Given the description of an element on the screen output the (x, y) to click on. 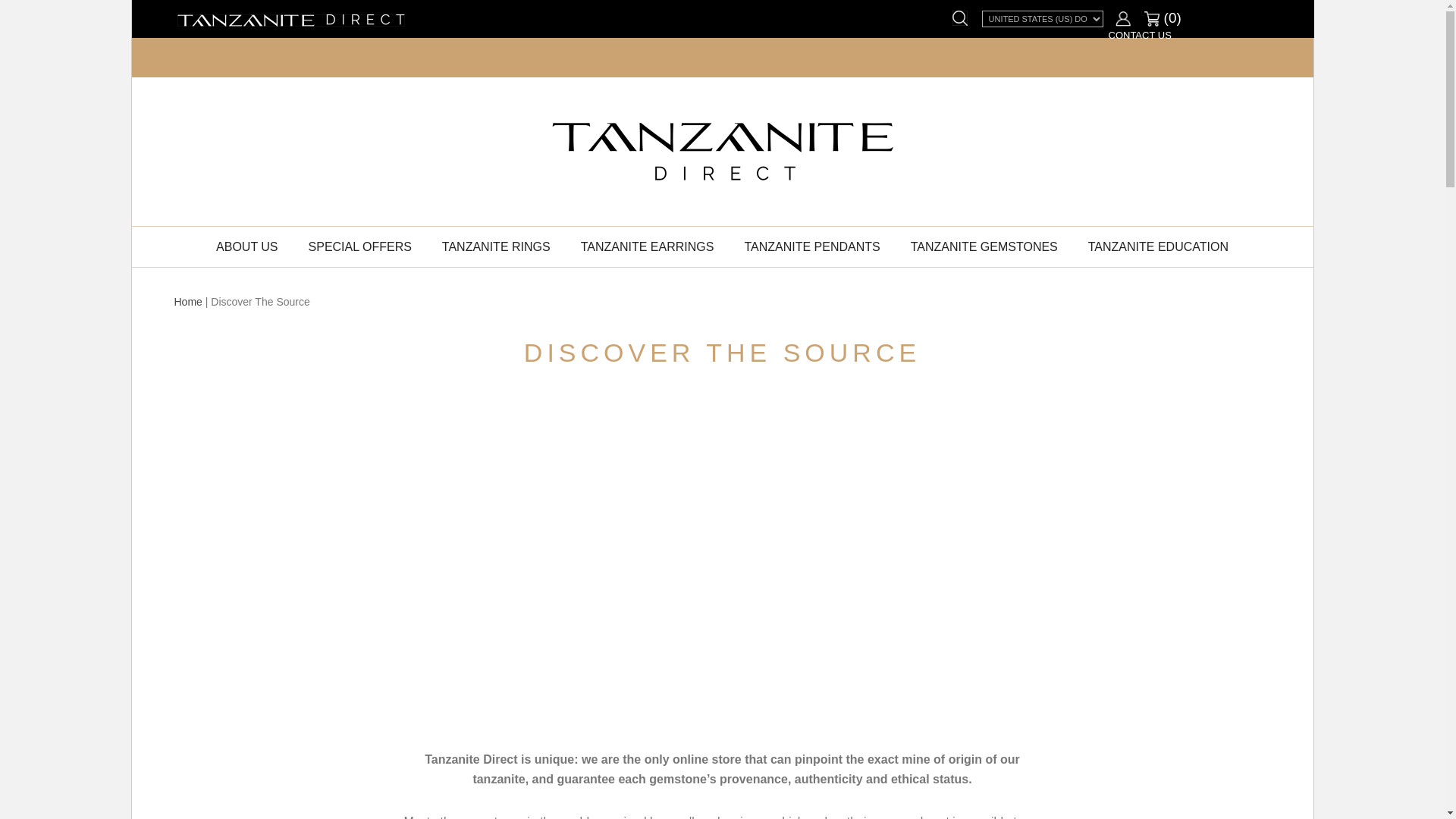
TANZANITE EDUCATION (1158, 246)
TANZANITE GEMSTONES (984, 246)
SPECIAL OFFERS (360, 246)
View your shopping cart (1162, 17)
Search (959, 17)
TANZANITE EARRINGS (647, 246)
Search for: (947, 18)
Go to Tanzanite Direct. (188, 301)
TANZANITE RINGS (496, 246)
CONTACT US (1140, 34)
